Given the description of an element on the screen output the (x, y) to click on. 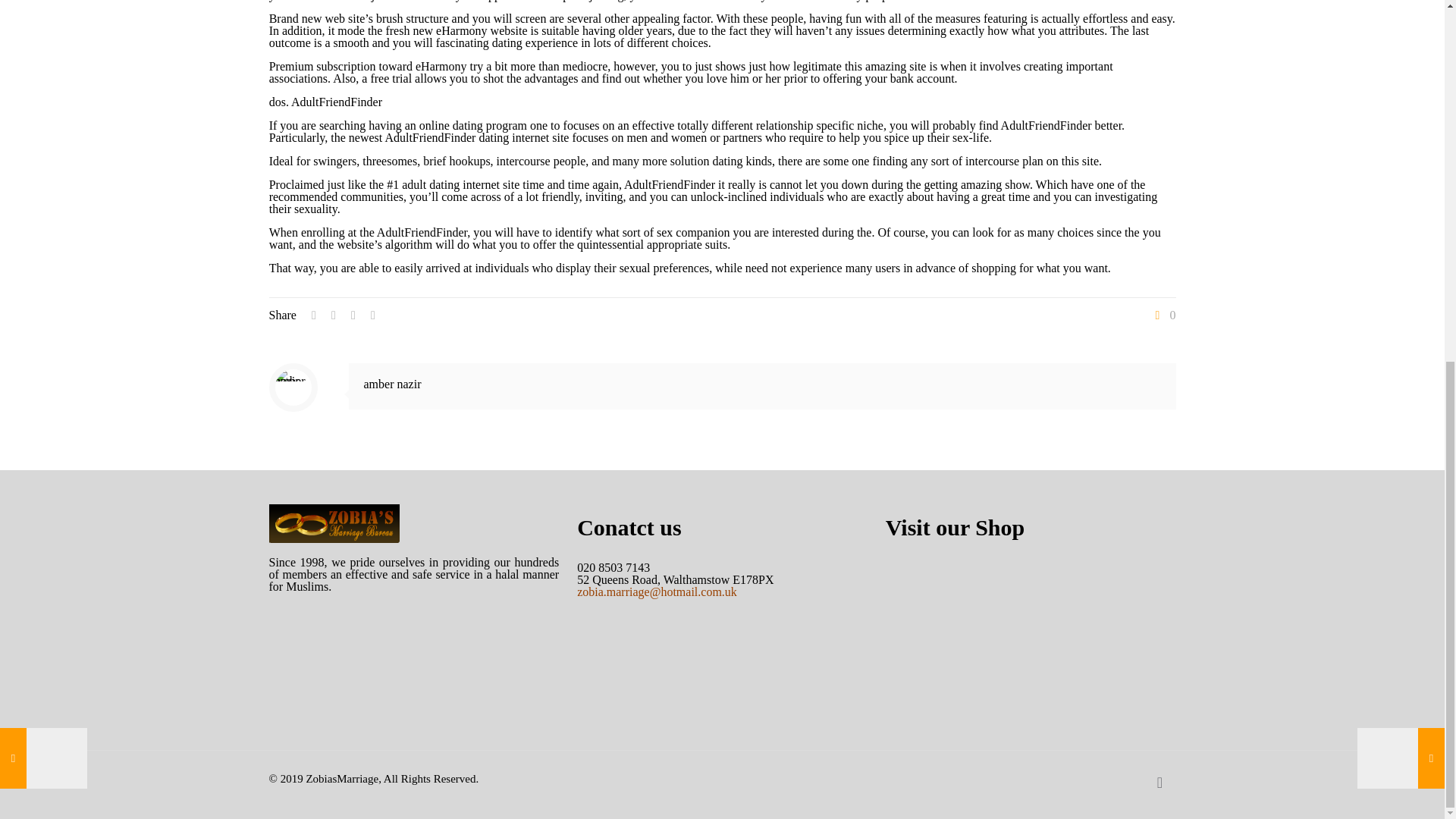
0 (1162, 315)
amber nazir (393, 383)
